Given the description of an element on the screen output the (x, y) to click on. 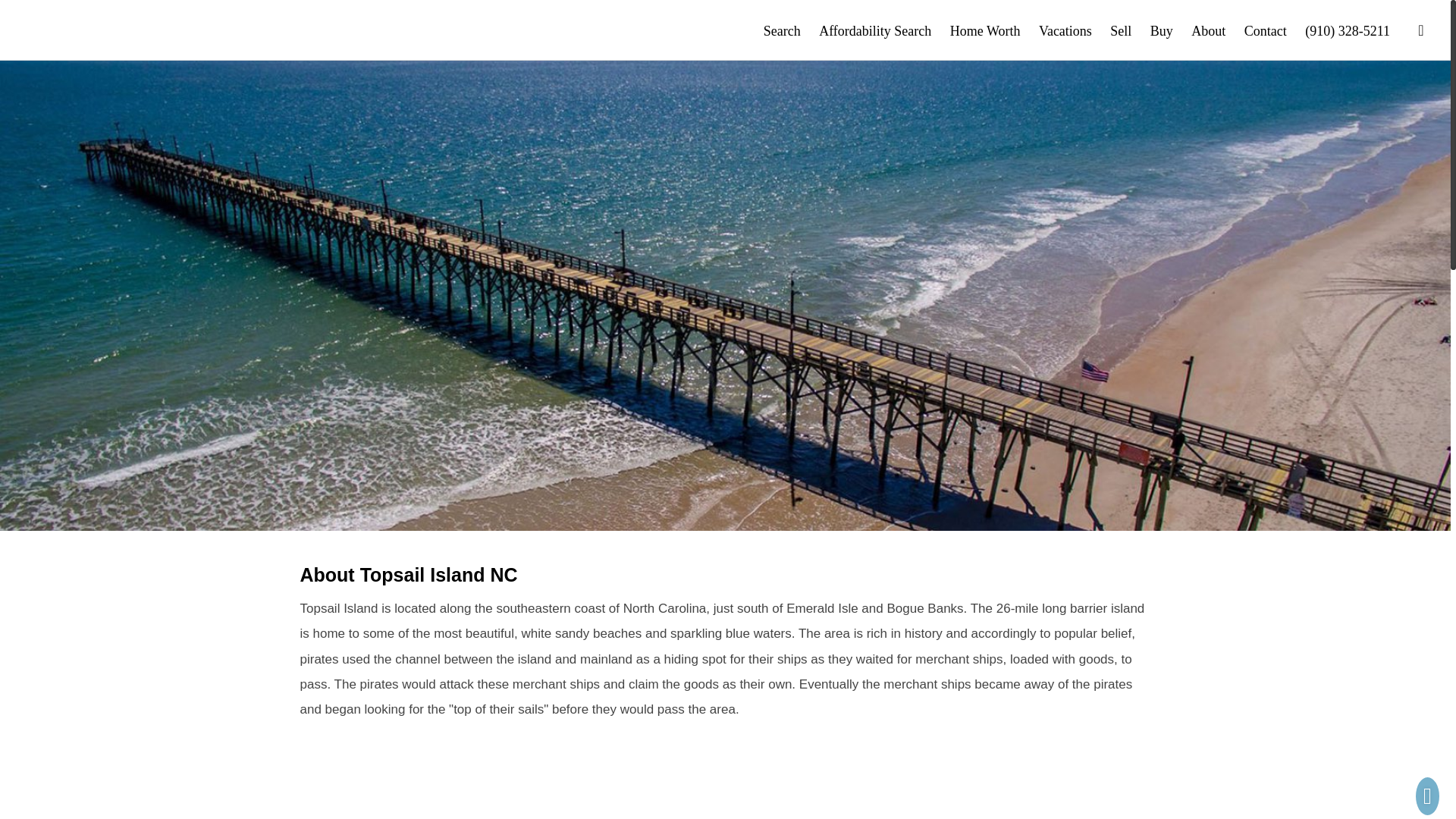
Home Worth (985, 30)
Sell (1120, 30)
Buy (1161, 30)
Vacations (1065, 30)
About (1208, 30)
Search (781, 30)
Affordability Search (874, 30)
Contact (1265, 30)
